Given the description of an element on the screen output the (x, y) to click on. 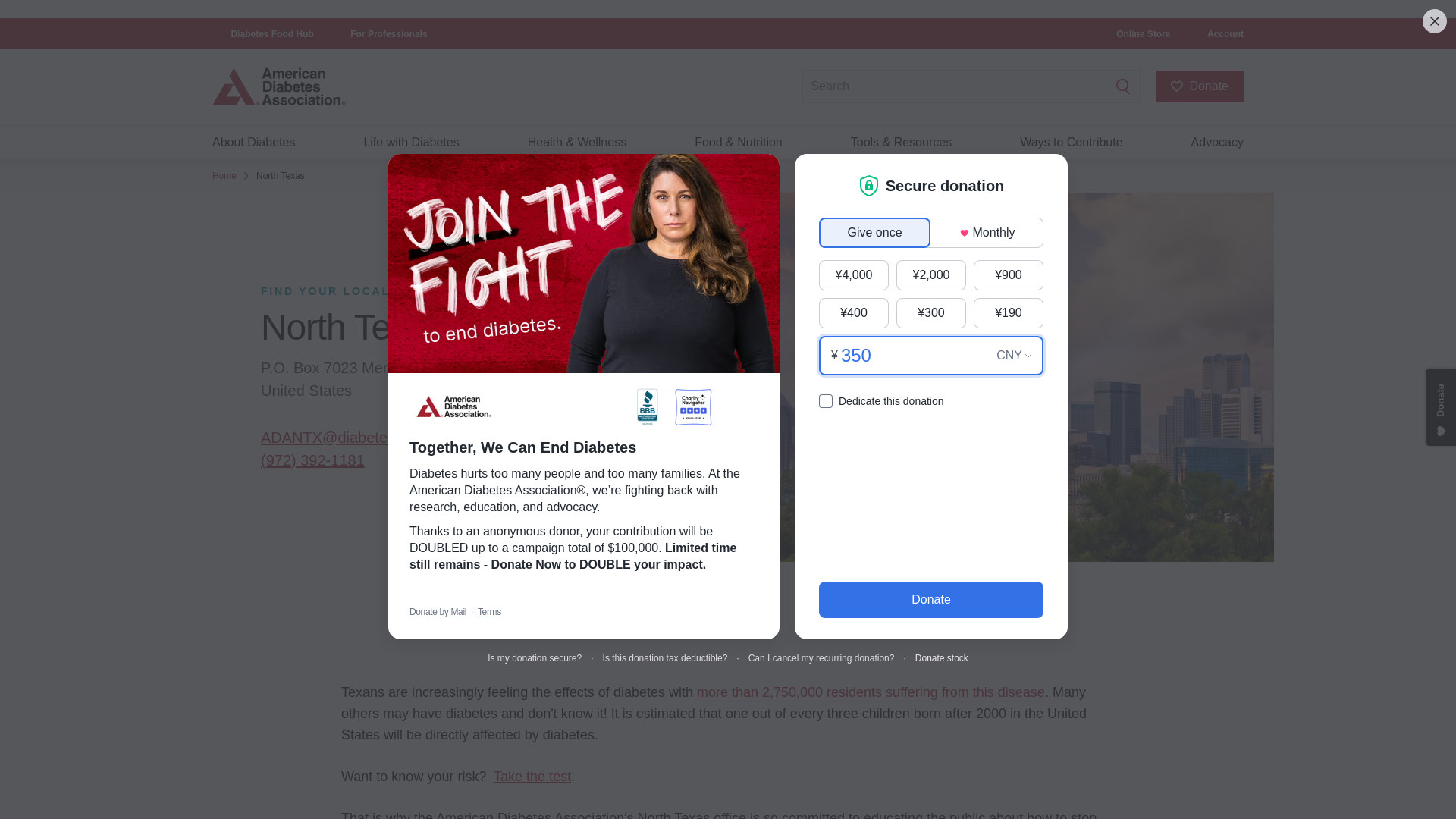
Life with Diabetes (410, 142)
Diabetes Risk Test (531, 776)
ADA Logo (333, 86)
Search (1123, 86)
Diabetes Food Hub (271, 33)
Online Store (1143, 33)
Donate (1199, 86)
Search (1123, 86)
For Professionals (388, 33)
Online Store (1143, 33)
About Diabetes (253, 142)
Account (1225, 33)
